Given the description of an element on the screen output the (x, y) to click on. 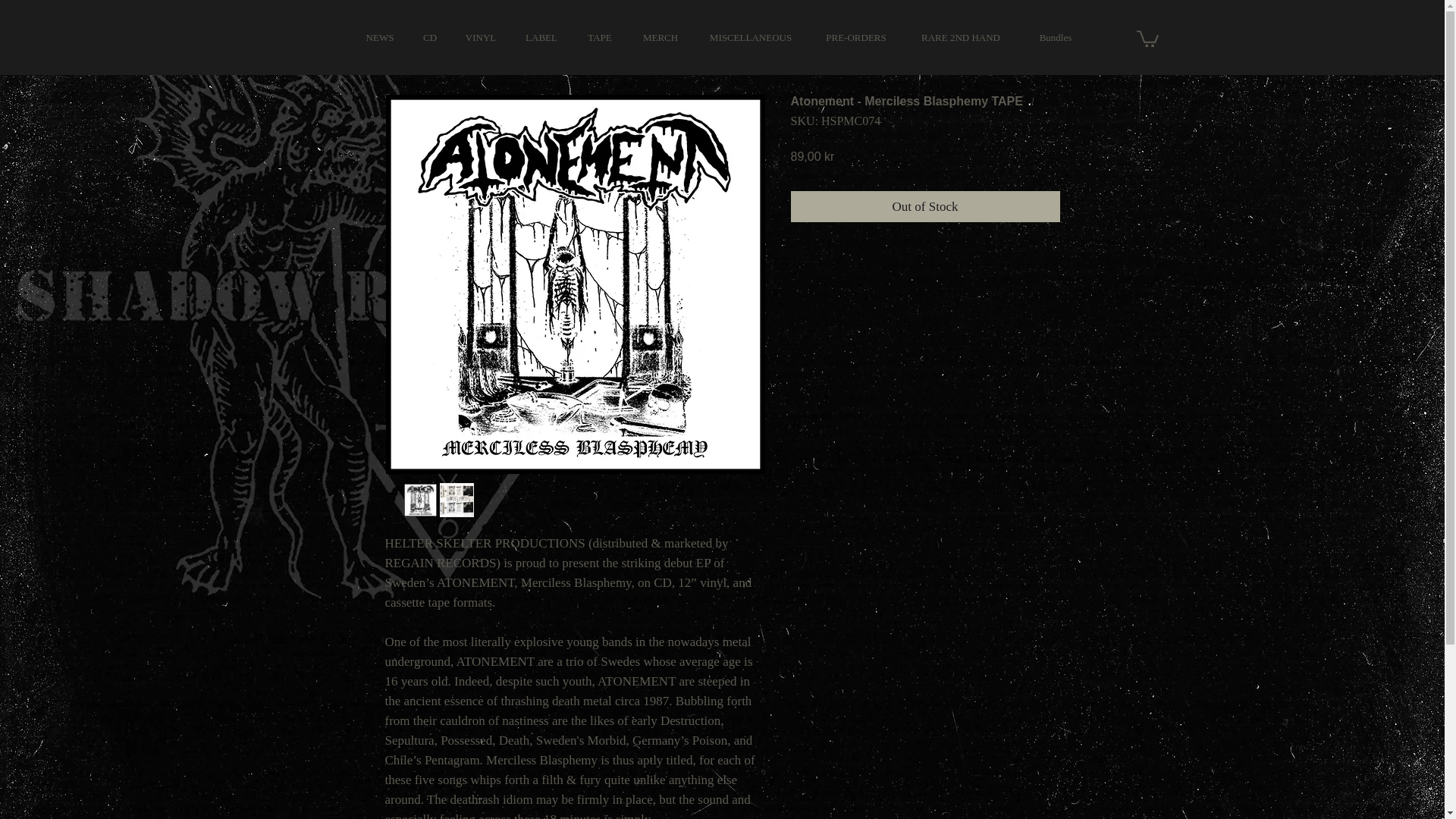
MERCH (660, 37)
Out of Stock (924, 206)
MISCELLANEOUS (750, 37)
PRE-ORDERS (856, 37)
LABEL (541, 37)
NEWS (379, 37)
VINYL (480, 37)
RARE 2ND HAND (960, 37)
Bundles (1055, 37)
CD (430, 37)
TAPE (599, 37)
